Given the description of an element on the screen output the (x, y) to click on. 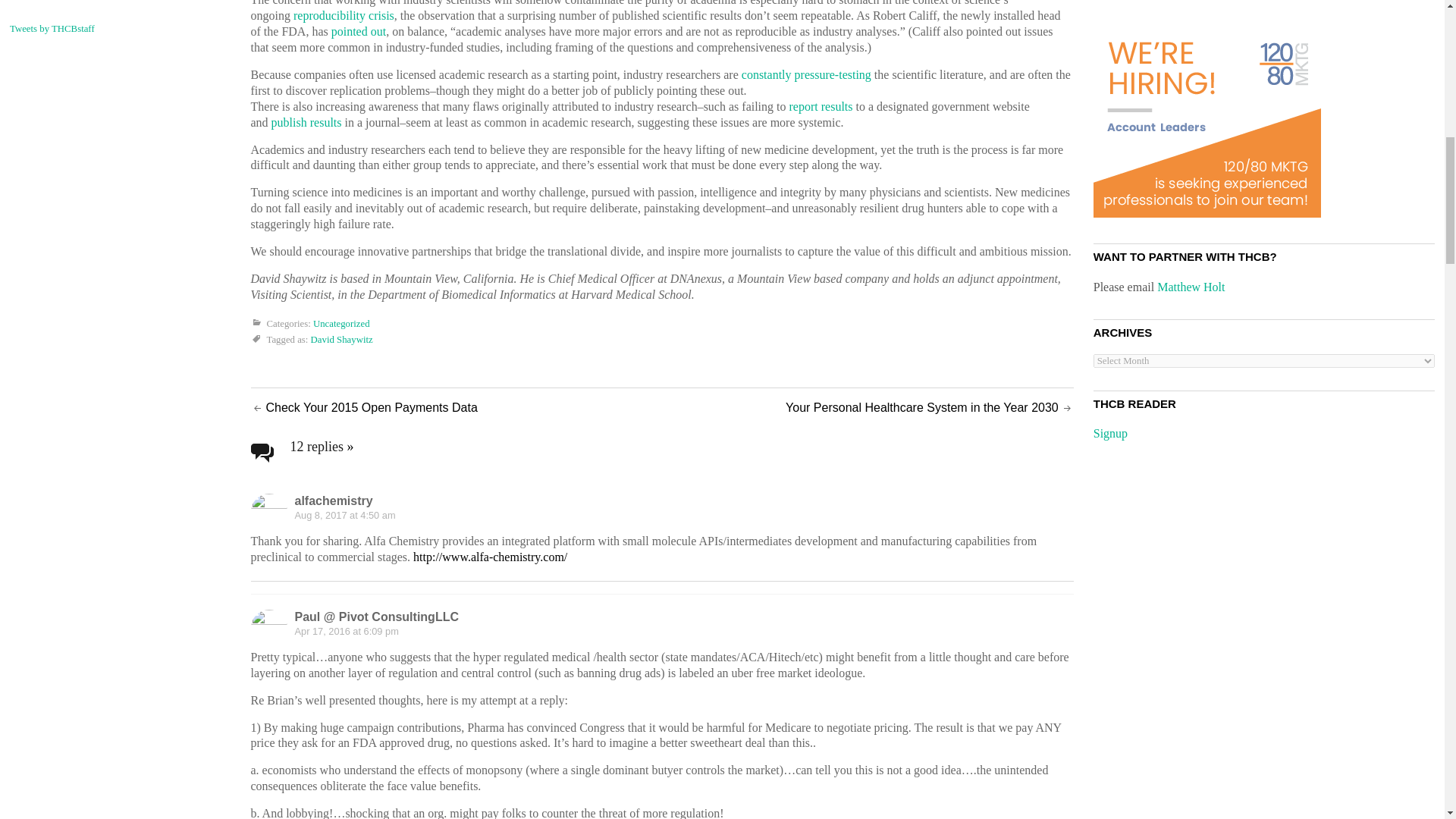
pointed out (358, 31)
reproducibility crisis (344, 15)
Uncategorized (341, 323)
Your Personal Healthcare System in the Year 2030 (922, 407)
Aug 8, 2017 at 4:50 am (344, 514)
Check Your 2015 Open Payments Data (370, 407)
publish results (306, 122)
David Shaywitz (341, 339)
constantly pressure-testing (805, 74)
report results (821, 106)
